Given the description of an element on the screen output the (x, y) to click on. 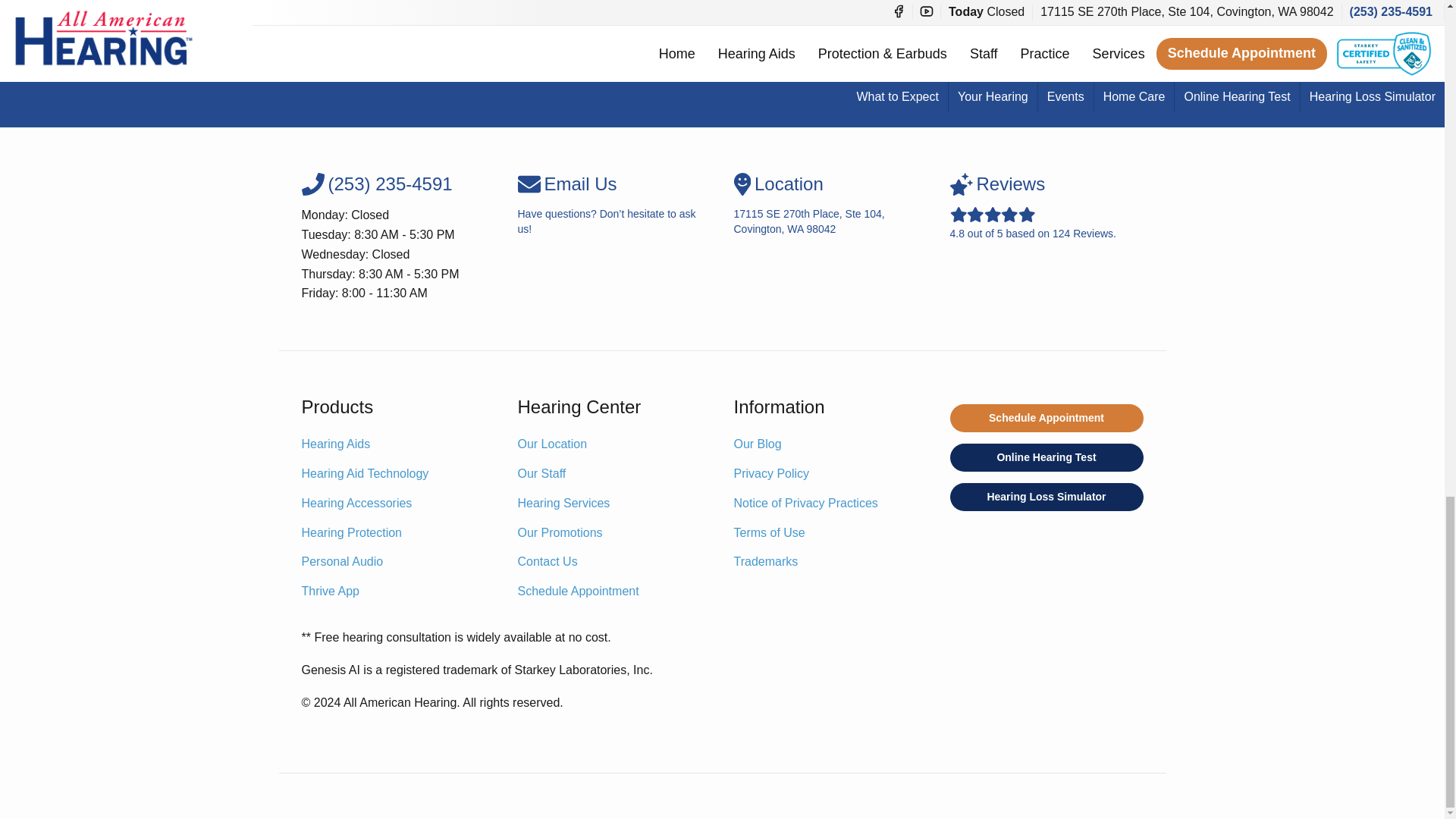
Thrive App (330, 591)
Hearing Protection (352, 533)
Hearing Aids (336, 444)
Personal Audio (342, 562)
Hearing Accessories (830, 204)
Schedule Now (356, 503)
Hearing Aid Technology (722, 81)
